Given the description of an element on the screen output the (x, y) to click on. 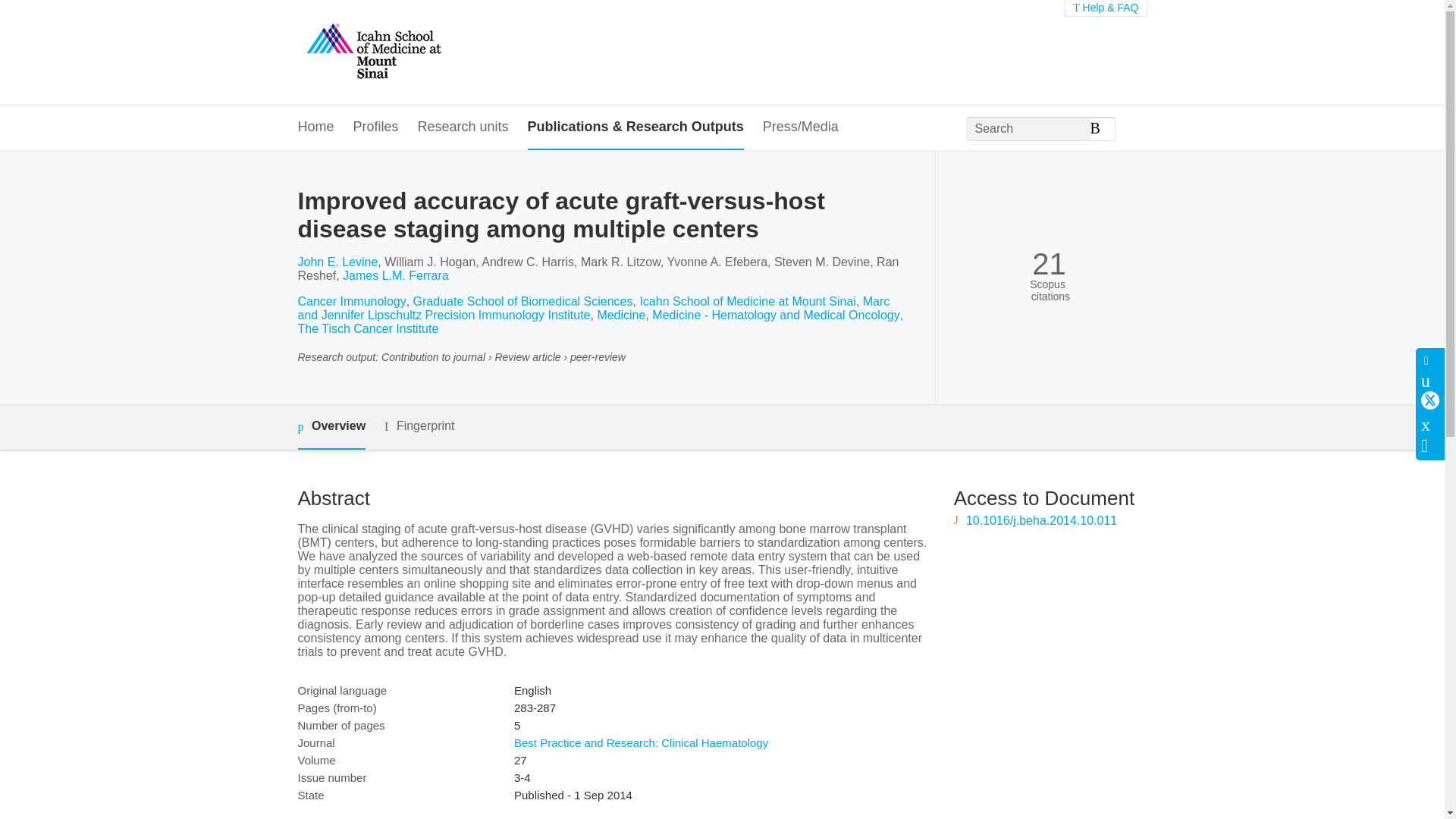
Research units (462, 127)
Medicine - Hematology and Medical Oncology (775, 314)
Cancer Immunology (351, 300)
Marc and Jennifer Lipschultz Precision Immunology Institute (593, 307)
Graduate School of Biomedical Sciences (523, 300)
John E. Levine (337, 261)
Profiles (375, 127)
Icahn School of Medicine at Mount Sinai (747, 300)
Fingerprint (419, 425)
Icahn School of Medicine at Mount Sinai Home (372, 52)
Overview (331, 426)
The Tisch Cancer Institute (367, 328)
Best Practice and Research: Clinical Haematology (640, 742)
Medicine (620, 314)
